Given the description of an element on the screen output the (x, y) to click on. 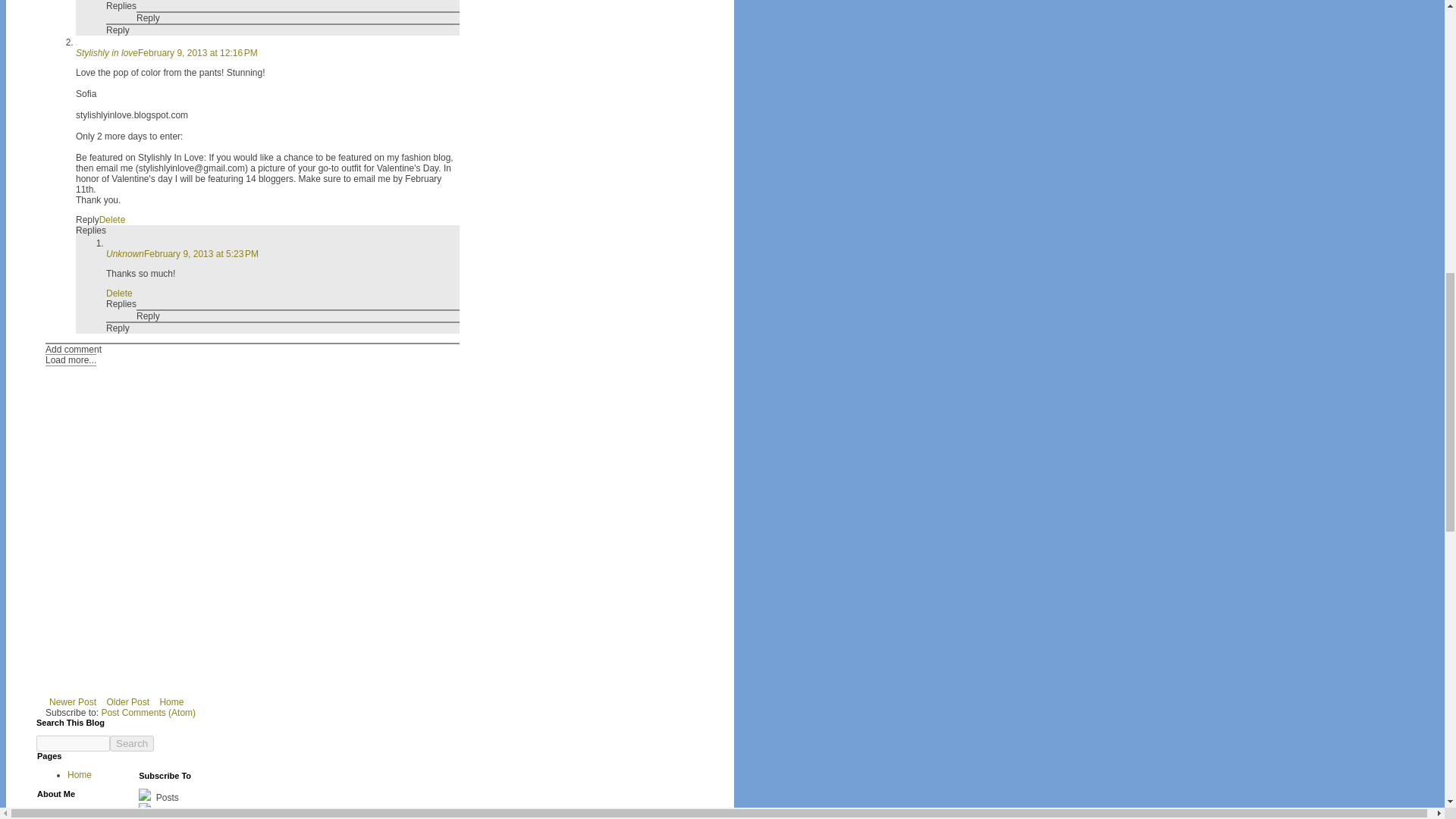
Older Post (126, 701)
Unknown (125, 253)
Delete (112, 219)
Reply (148, 316)
Replies (121, 303)
Reply (148, 18)
search (73, 743)
Replies (121, 5)
Search (132, 743)
Reply (87, 219)
Search (132, 743)
Stylishly in love (106, 52)
Delete (119, 293)
